Given the description of an element on the screen output the (x, y) to click on. 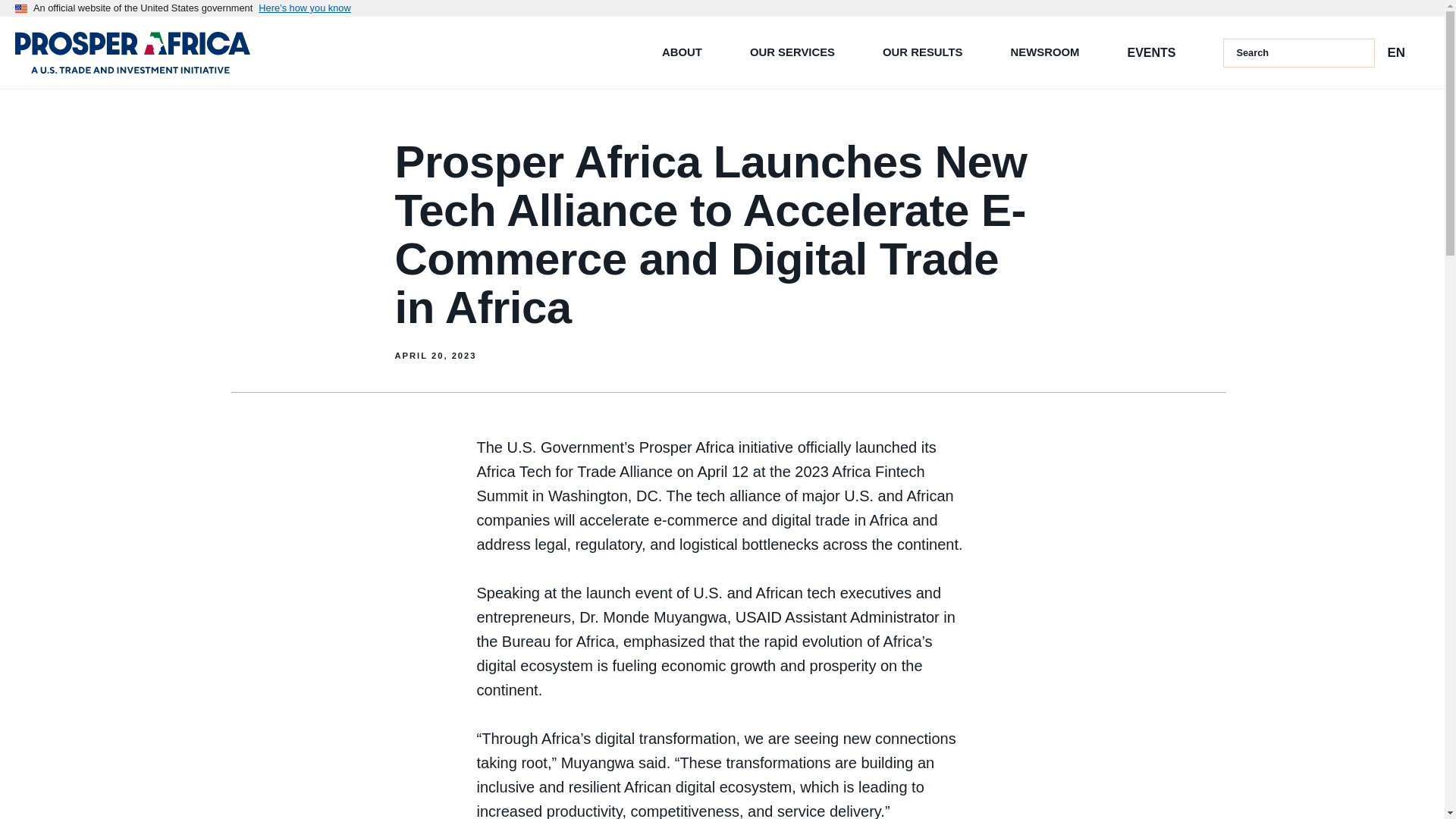
EN (1396, 52)
OUR SERVICES (798, 51)
ABOUT (687, 51)
Our Services (798, 51)
About (687, 51)
EVENTS (1151, 52)
Newsroom (1050, 51)
Our Results (928, 51)
NEWSROOM (1050, 51)
Home (132, 52)
